Given the description of an element on the screen output the (x, y) to click on. 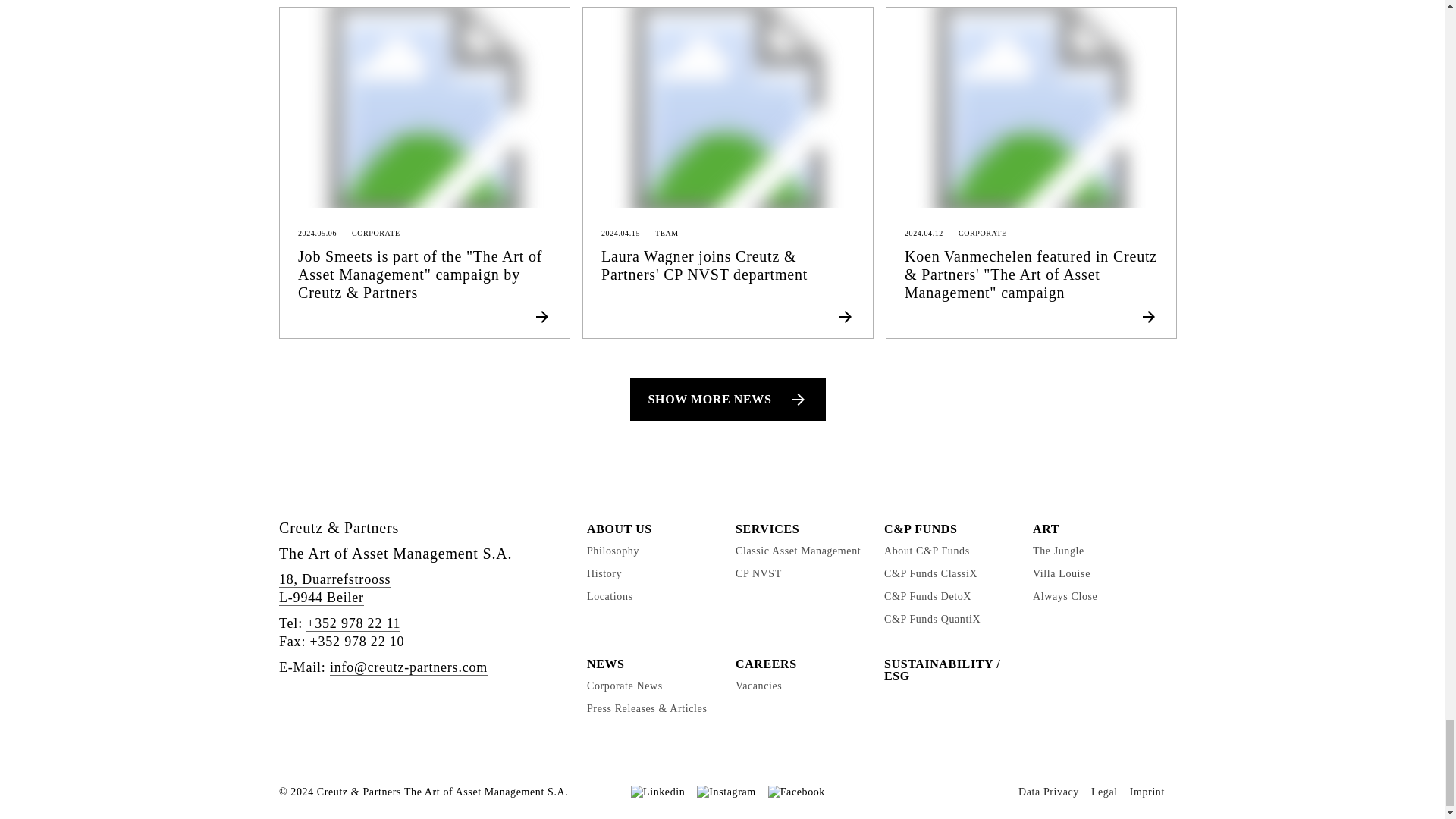
L-9944 Beiler (321, 597)
Philosophy (612, 550)
SERVICES (767, 528)
History (603, 573)
18, Duarrefstrooss (334, 579)
Locations (609, 595)
SHOW MORE NEWS (728, 399)
CP NVST (758, 573)
ABOUT US (619, 528)
Classic Asset Management (797, 550)
